Given the description of an element on the screen output the (x, y) to click on. 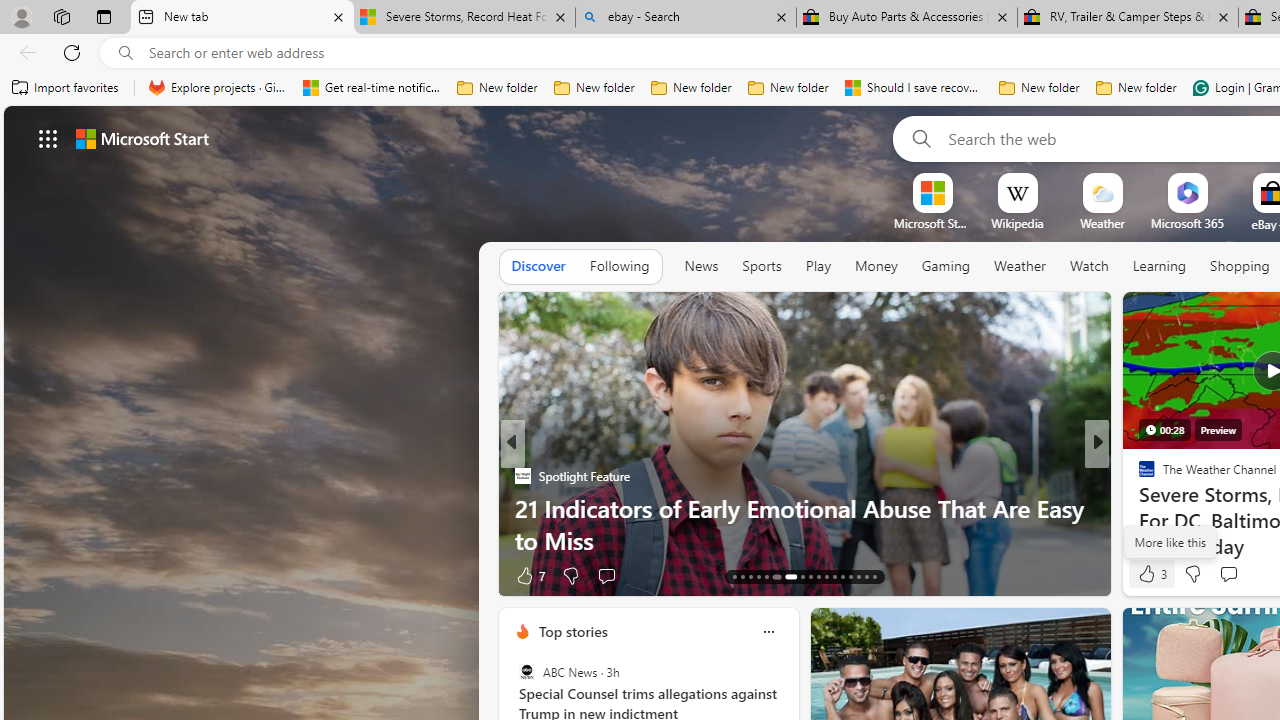
AutomationID: tab-15 (750, 576)
99 Like (1149, 574)
View comments 8 Comment (1229, 575)
View comments 167 Comment (1247, 574)
Search icon (125, 53)
